Given the description of an element on the screen output the (x, y) to click on. 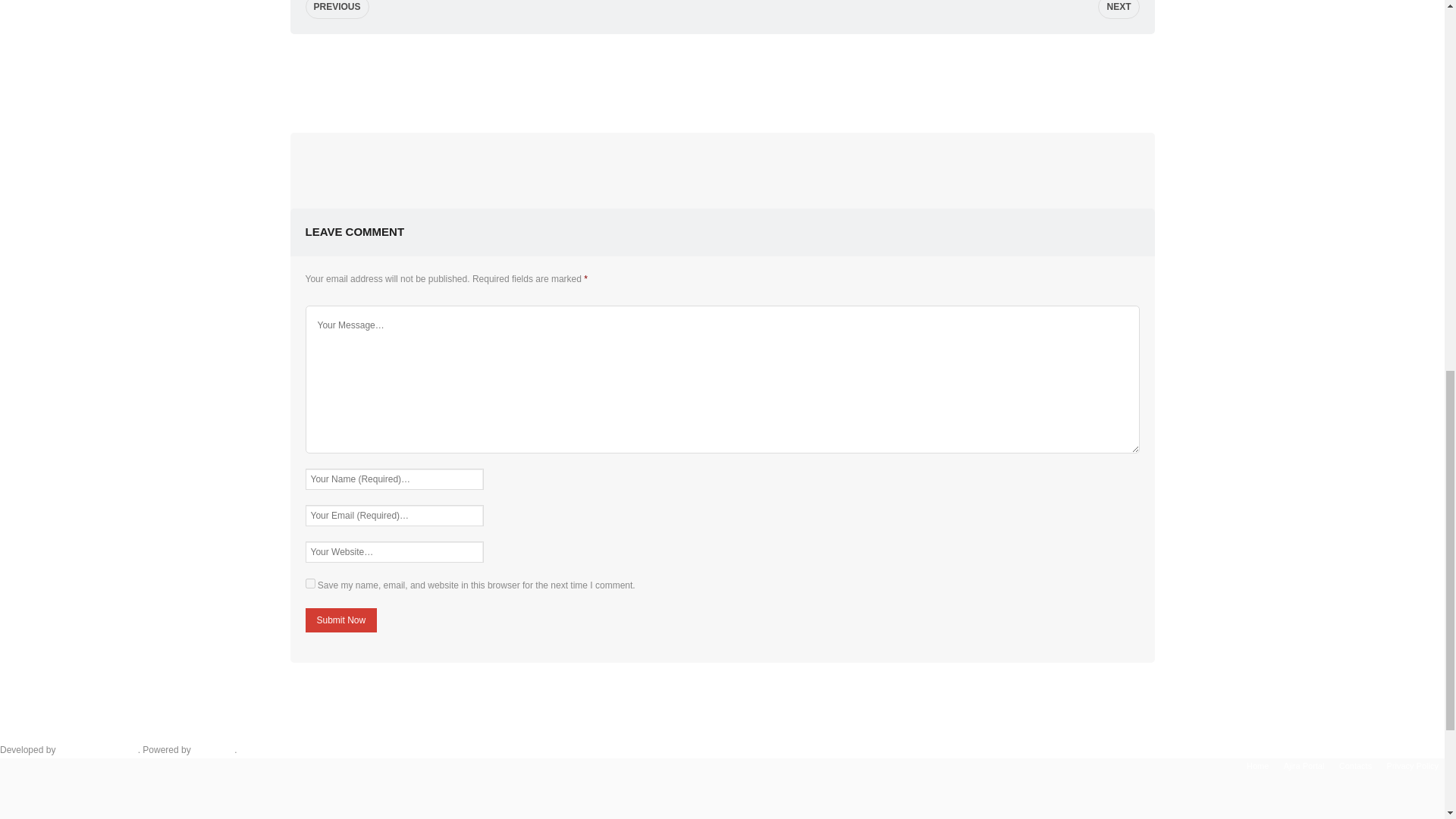
WordPress (213, 749)
Think Up Themes Ltd (98, 749)
Advertisement (721, 166)
PREVIOUS (336, 9)
Advertisement (721, 711)
Advertisement (721, 83)
Contacts (1355, 765)
yes (309, 583)
Home (1257, 765)
Advertisement (721, 796)
Ajira Portal (1304, 765)
NEXT (1117, 9)
Submit Now (340, 620)
Submit Now (340, 620)
